Given the description of an element on the screen output the (x, y) to click on. 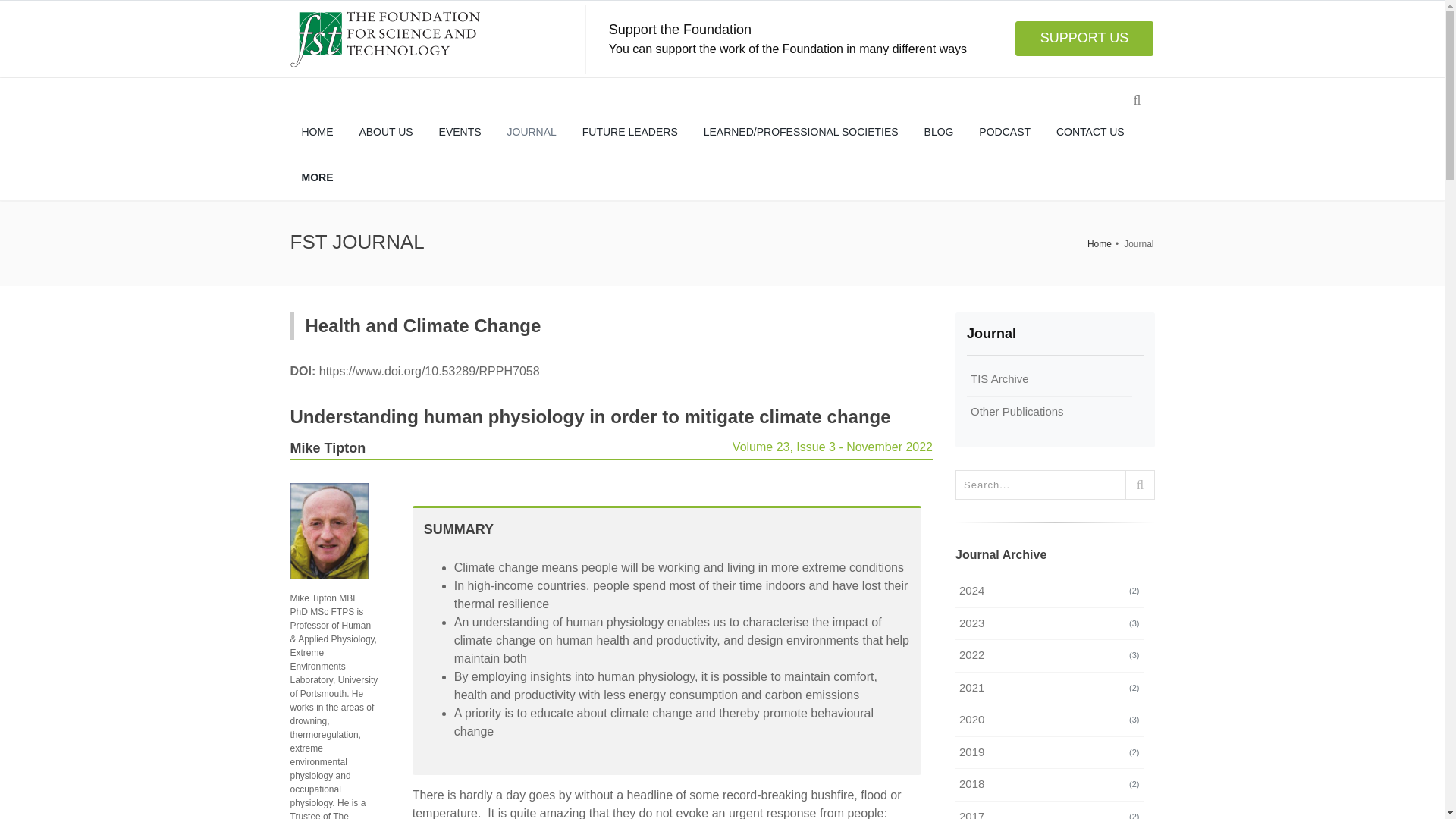
CONTACT US (1090, 131)
HOME (316, 131)
FUTURE LEADERS (629, 131)
EVENTS (460, 131)
SUPPORT US (1083, 38)
JOURNAL (531, 131)
PODCAST (1005, 131)
MORE (316, 176)
BLOG (938, 131)
ABOUT US (385, 131)
